Given the description of an element on the screen output the (x, y) to click on. 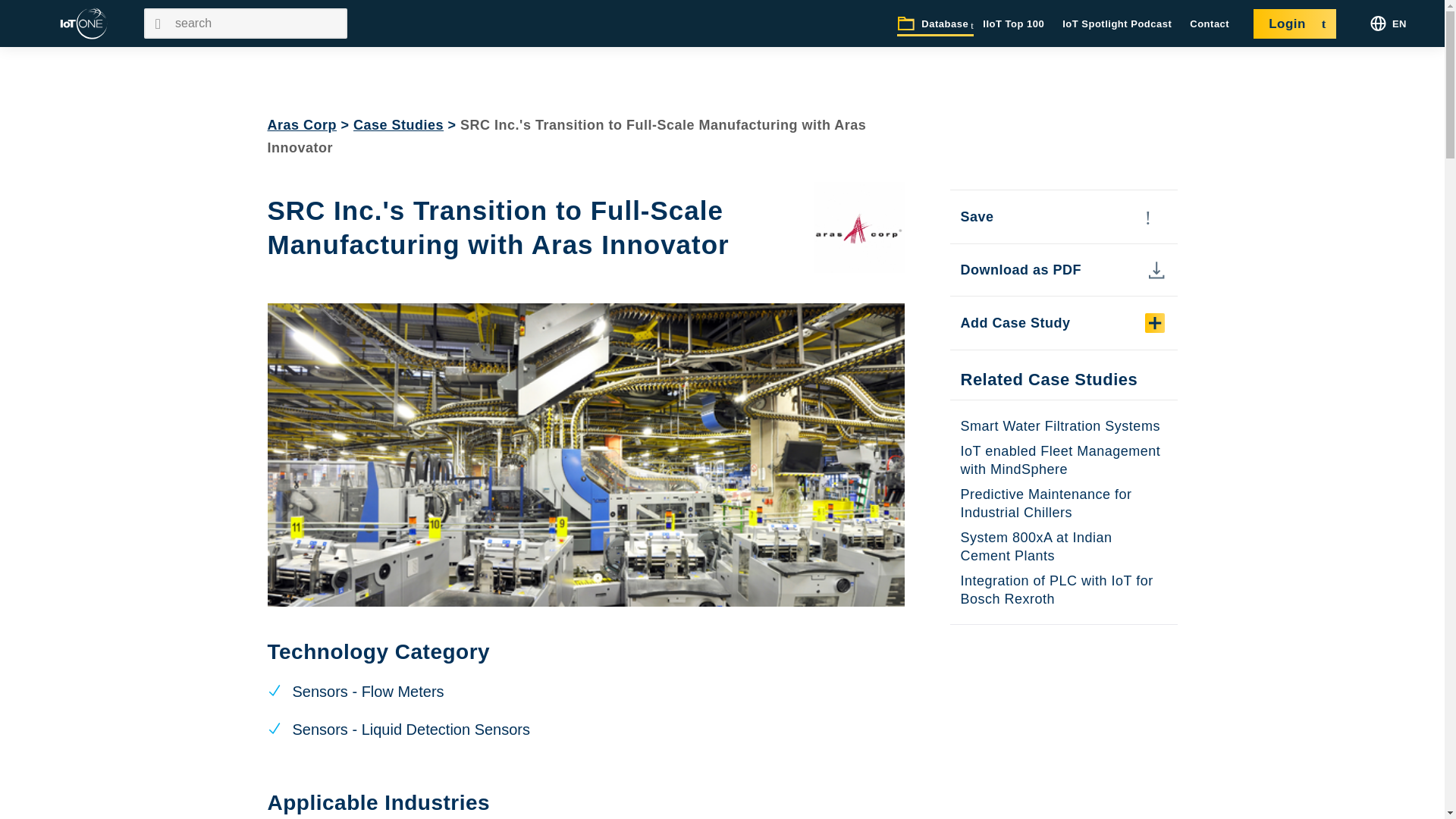
IIoT Top 100 (1013, 23)
System 800xA at Indian Cement Plants (1035, 546)
IoT enabled Fleet Management with MindSphere (1059, 459)
Aras Corp (301, 124)
Integration of PLC with IoT for Bosch Rexroth (1056, 589)
Predictive Maintenance for Industrial Chillers (1045, 503)
Case Studies (398, 124)
Aras Corp Logo (858, 226)
Contact (1209, 23)
IoT Spotlight Podcast (1117, 23)
Smart Water Filtration Systems (1058, 426)
